Given the description of an element on the screen output the (x, y) to click on. 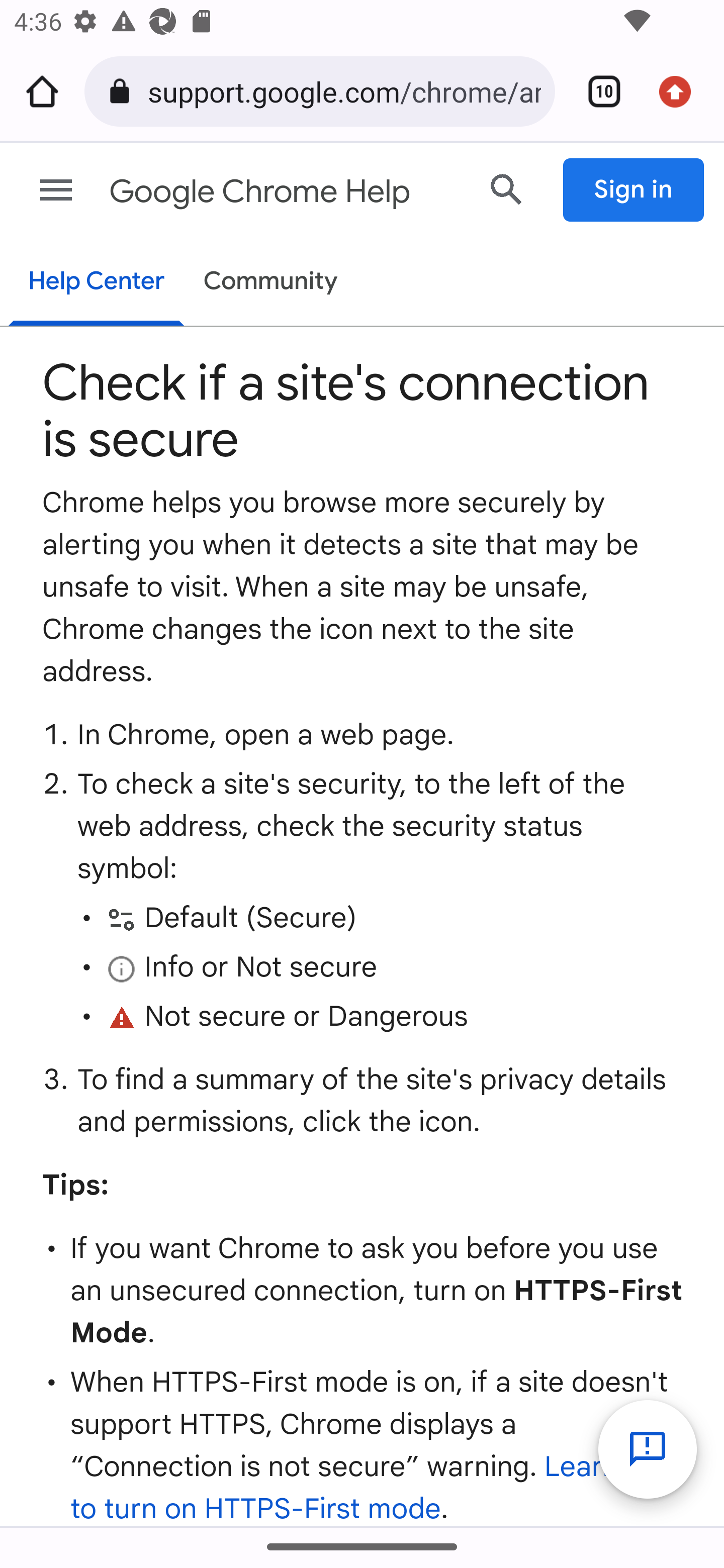
Home (42, 91)
Connection is secure (122, 91)
Switch or close tabs (597, 91)
Update available. More options (681, 91)
Main menu (56, 190)
Google Chrome Help (285, 191)
Search Help Center (506, 189)
Sign in (634, 190)
Help Center (95, 283)
Community (271, 281)
Learn how to turn on HTTPS-First mode (375, 1487)
